Given the description of an element on the screen output the (x, y) to click on. 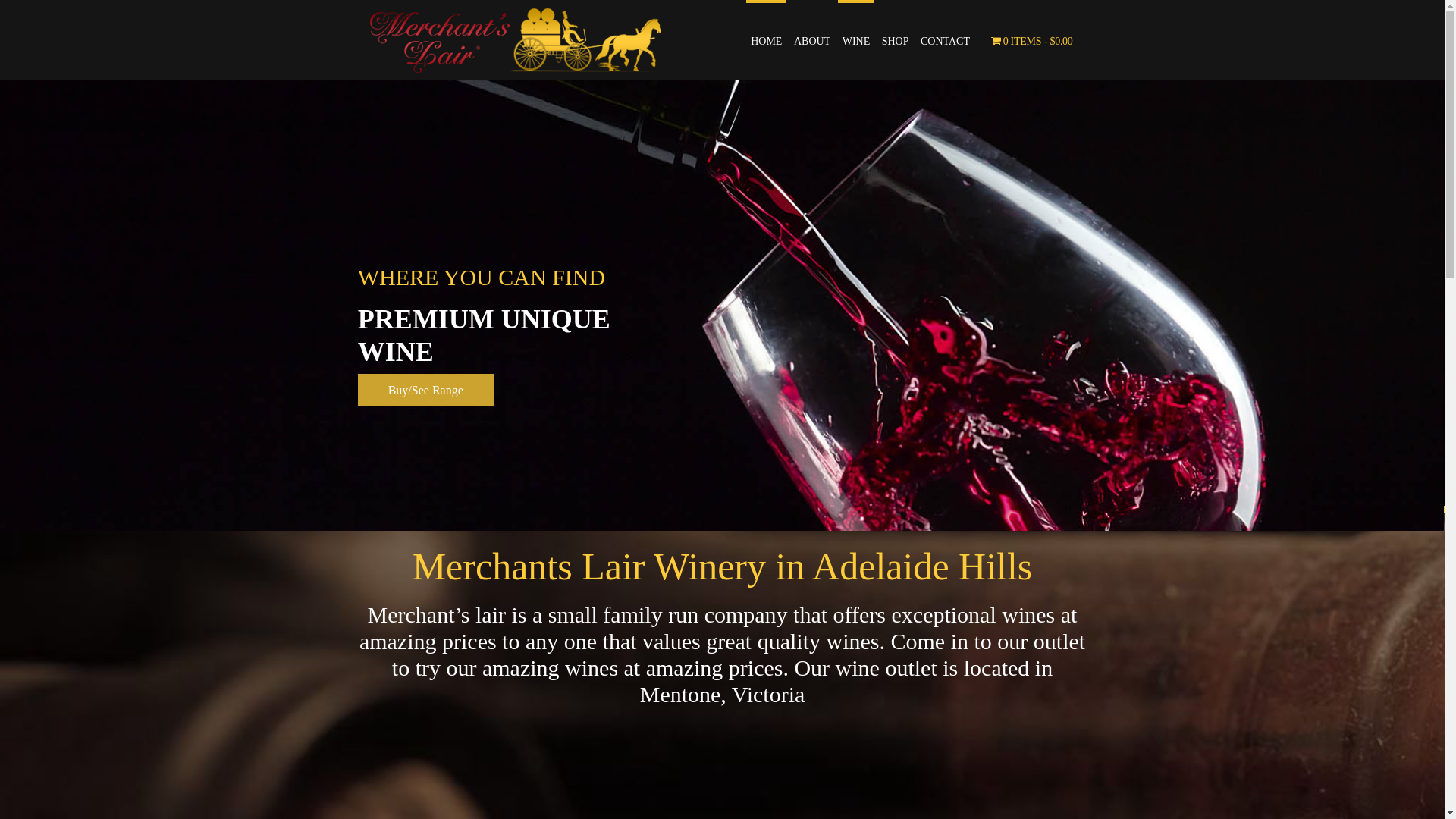
HOME Element type: text (766, 39)
SHOP Element type: text (895, 41)
Buy/See Range Element type: text (425, 389)
Merchant's Lair Element type: text (509, 37)
0 ITEMS$0.00 Element type: text (1031, 41)
ABOUT Element type: text (811, 41)
WINE Element type: text (856, 39)
CONTACT Element type: text (945, 41)
